Given the description of an element on the screen output the (x, y) to click on. 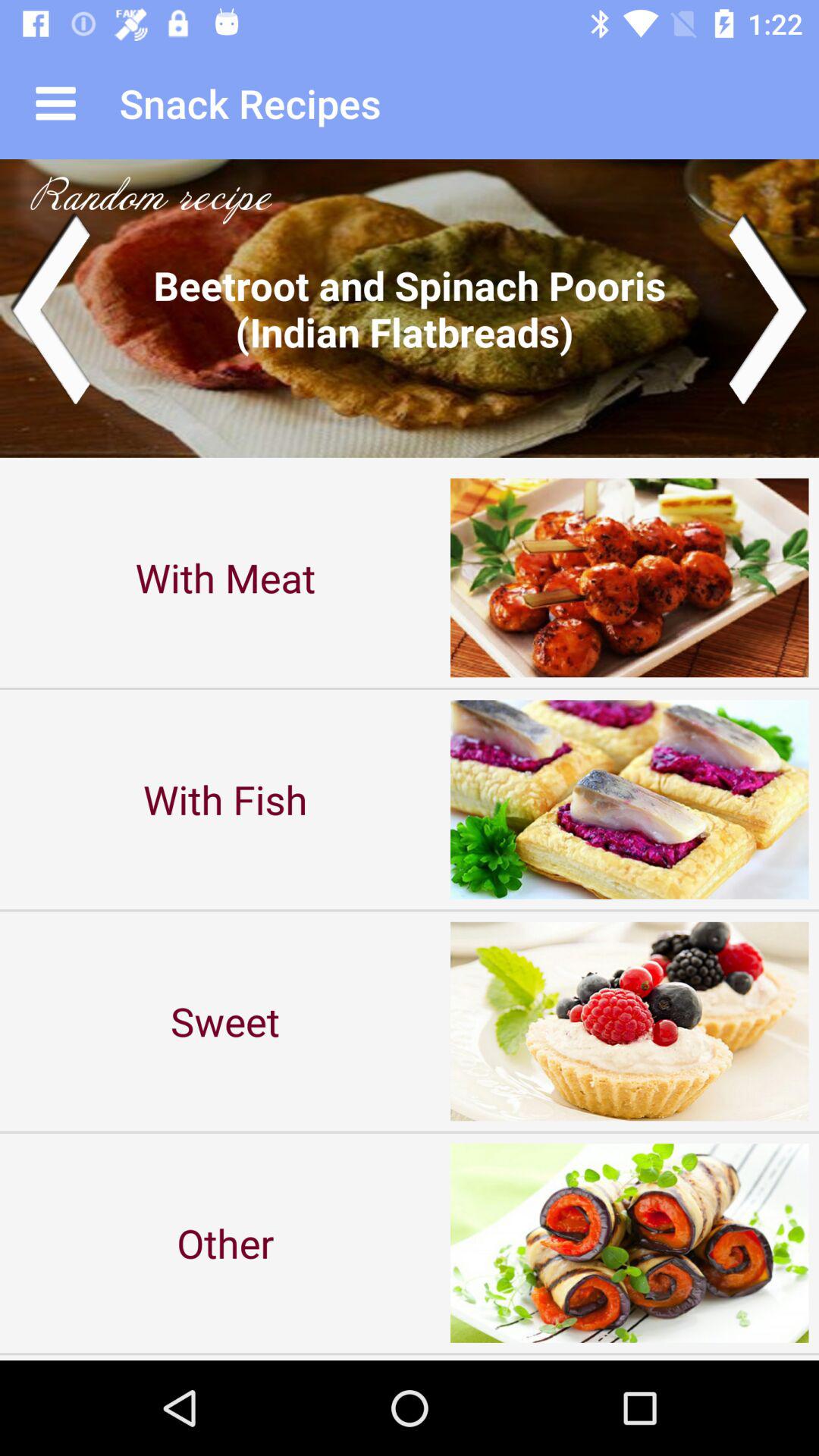
go back to previous picture (49, 308)
